Given the description of an element on the screen output the (x, y) to click on. 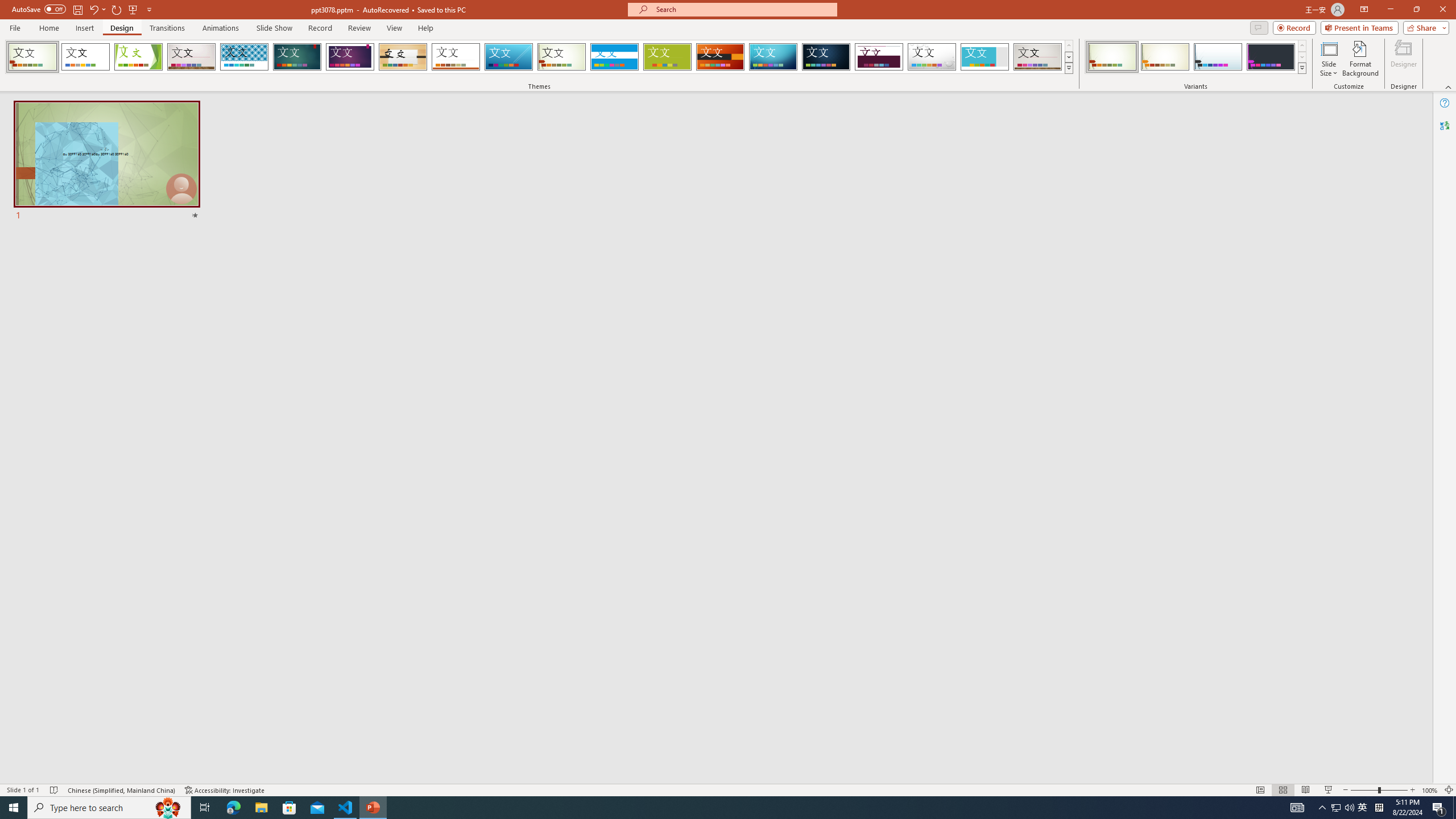
Class: MsoCommandBar (728, 789)
Retrospect (455, 56)
Format Background (1360, 58)
Slice (508, 56)
Banded (614, 56)
Wisp Variant 3 (1217, 56)
Wisp Variant 4 (1270, 56)
Accessibility Checker Accessibility: Investigate (224, 790)
